Given the description of an element on the screen output the (x, y) to click on. 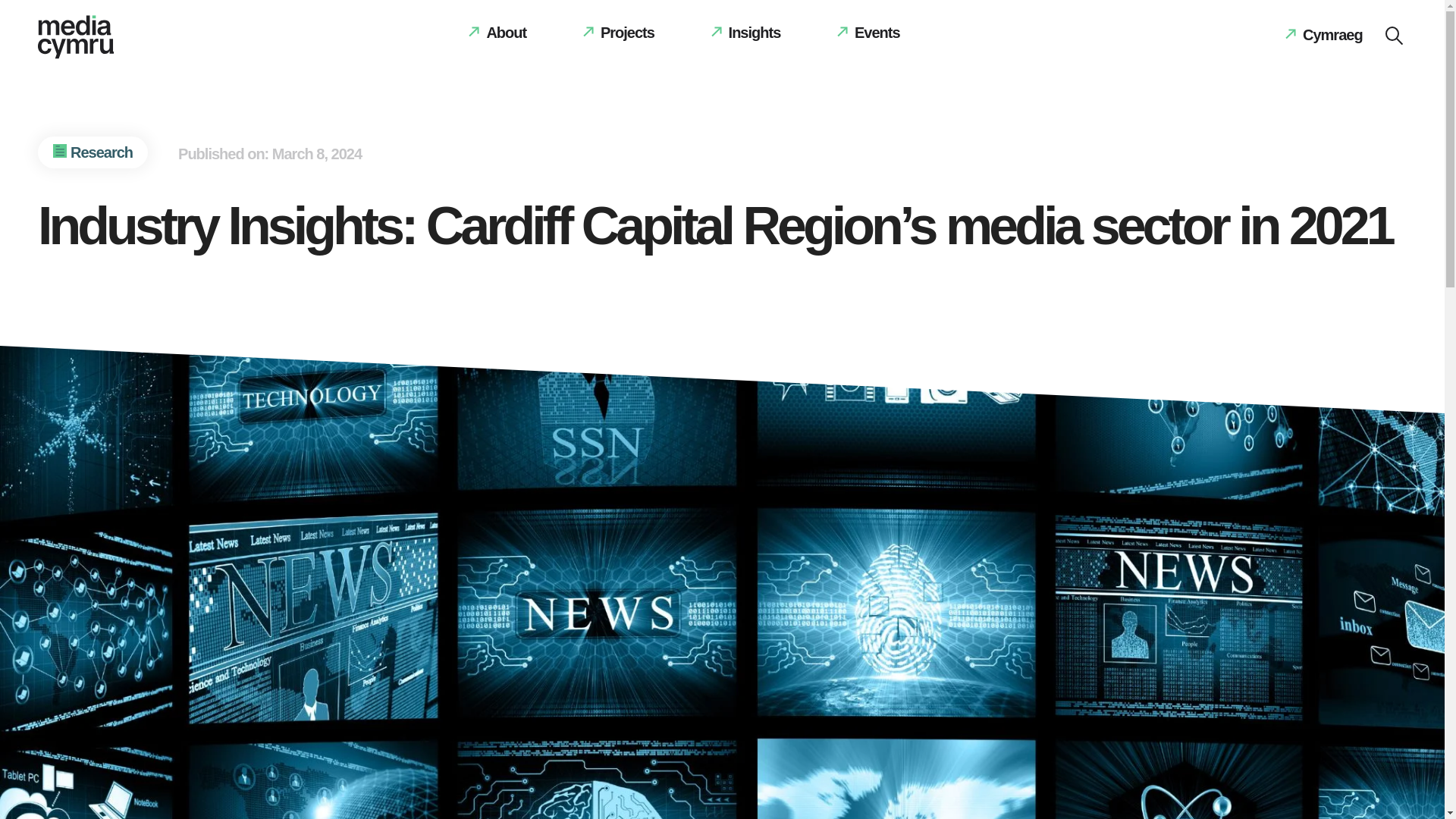
Media Cyrmu Logo (75, 40)
Projects (618, 32)
Cymraeg (1323, 34)
Events (868, 32)
Insights (745, 32)
Media Cyrmu Logo (75, 36)
About (496, 32)
